Given the description of an element on the screen output the (x, y) to click on. 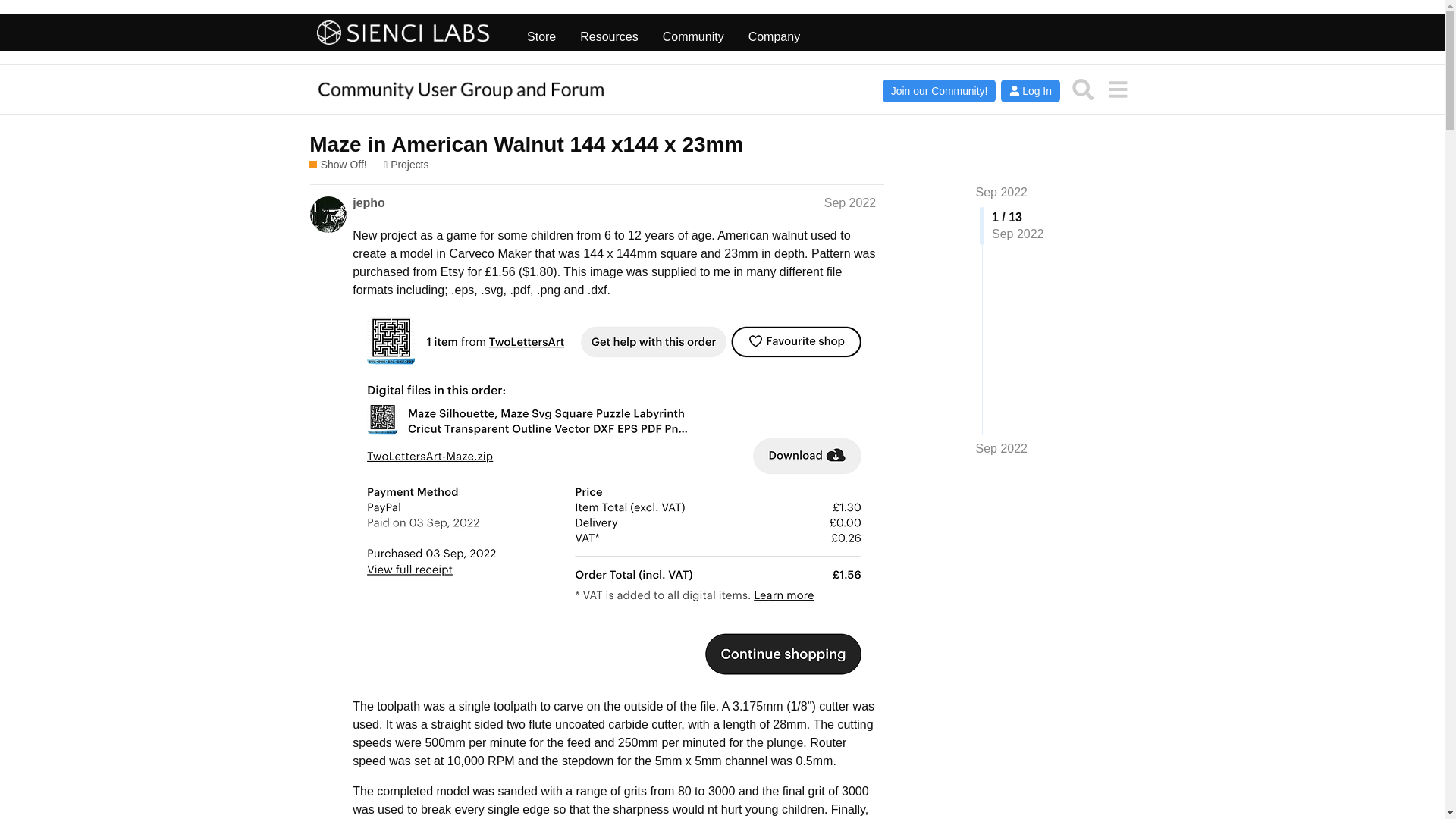
Sienci Labs (403, 32)
Post date (850, 202)
Company (773, 32)
jepho (368, 202)
menu (1117, 89)
Maze in American Walnut 144 x144 x 23mm (525, 144)
Show Off! (337, 164)
Sep 2022 (1001, 448)
Sep 2022 (850, 202)
Jump to the last post (1001, 448)
Sep 2022 (1001, 192)
Resources (608, 32)
Community (692, 32)
Log In (1030, 90)
Search (1082, 89)
